Given the description of an element on the screen output the (x, y) to click on. 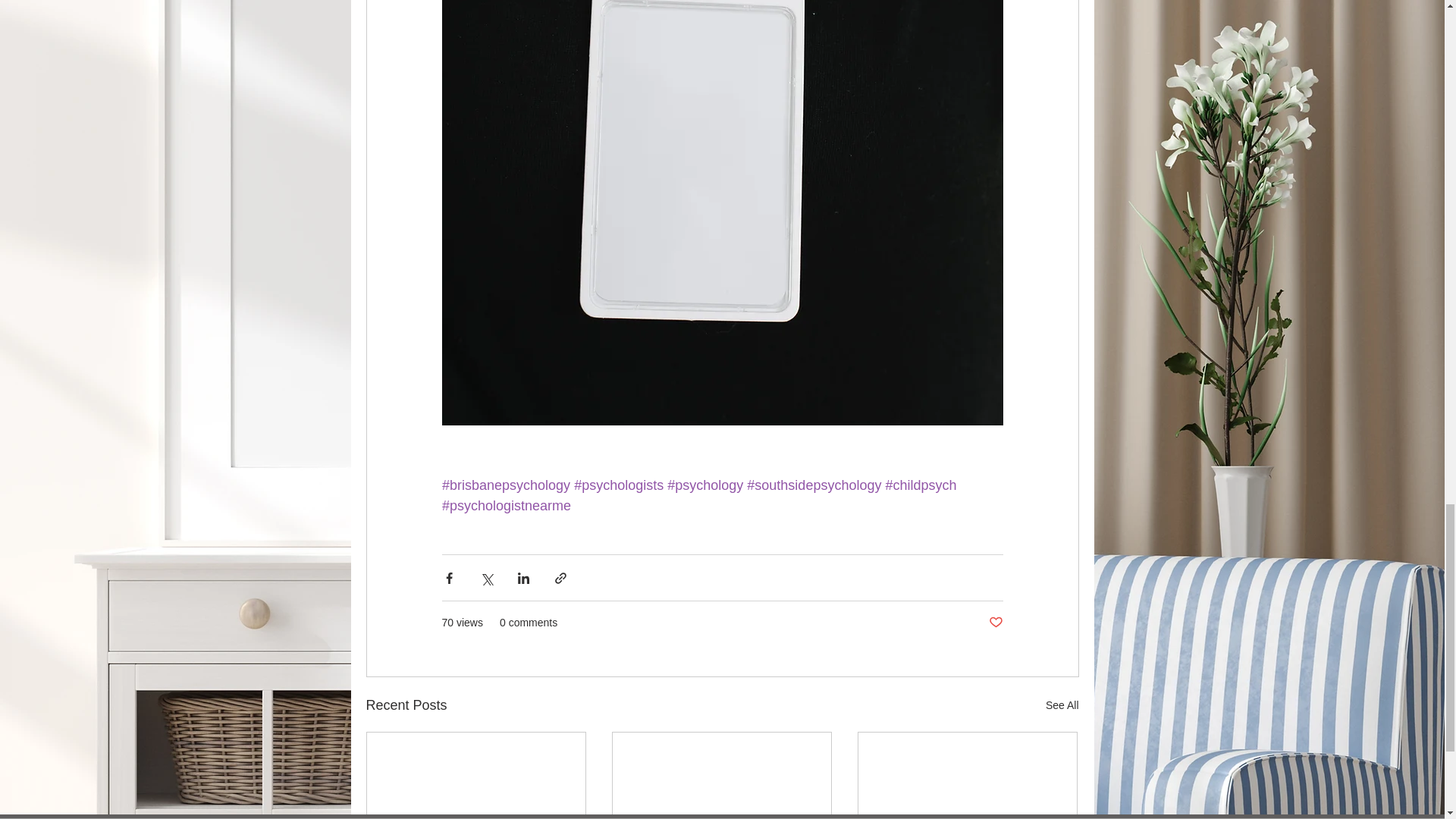
See All (1061, 705)
Post not marked as liked (995, 622)
